Given the description of an element on the screen output the (x, y) to click on. 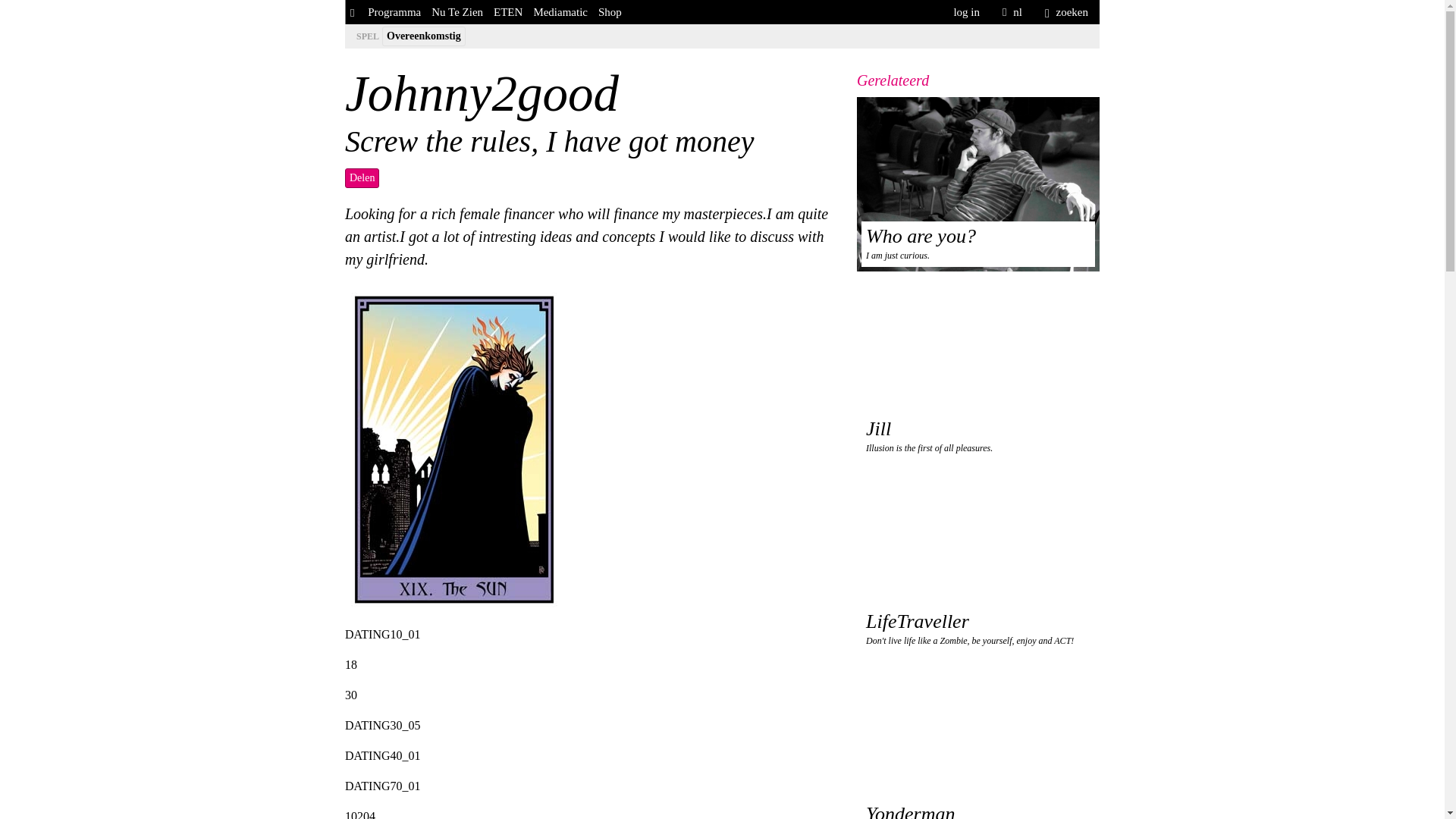
ETEN (507, 12)
Overeenkomstig (423, 35)
Mediamatic (559, 12)
Log in (966, 12)
log in (966, 12)
SPEL (367, 36)
Shop (609, 12)
Programma (394, 12)
Nu Te Zien (456, 12)
